Given the description of an element on the screen output the (x, y) to click on. 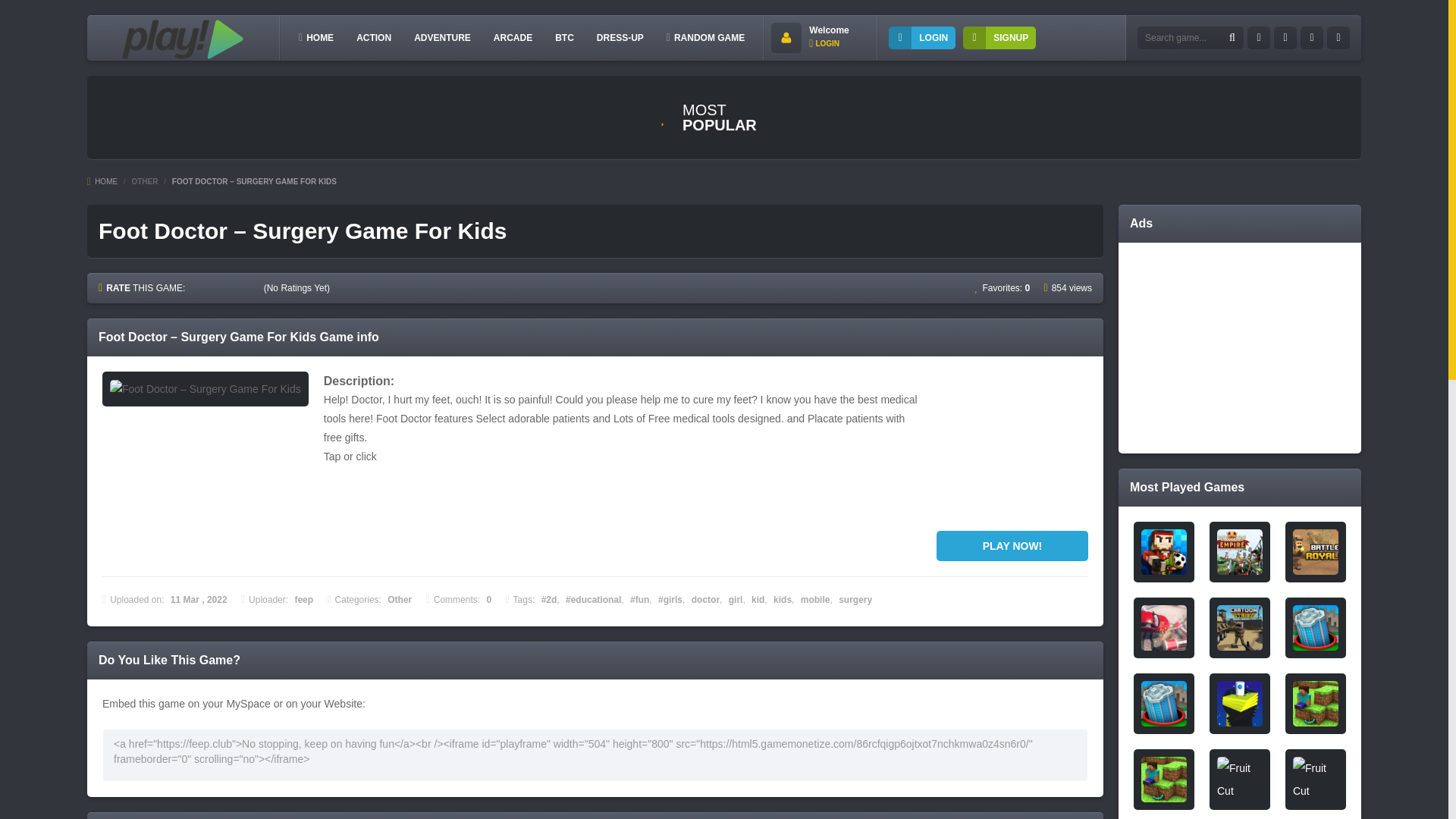
ARCADE (513, 37)
DRESS-UP (619, 37)
Youtube (1337, 37)
ACTION (373, 37)
SIGNUP (998, 37)
LOGIN (921, 37)
No stopping, keep on having fun (179, 46)
LOGIN (824, 43)
HOME (102, 181)
Twitter (1285, 37)
